Given the description of an element on the screen output the (x, y) to click on. 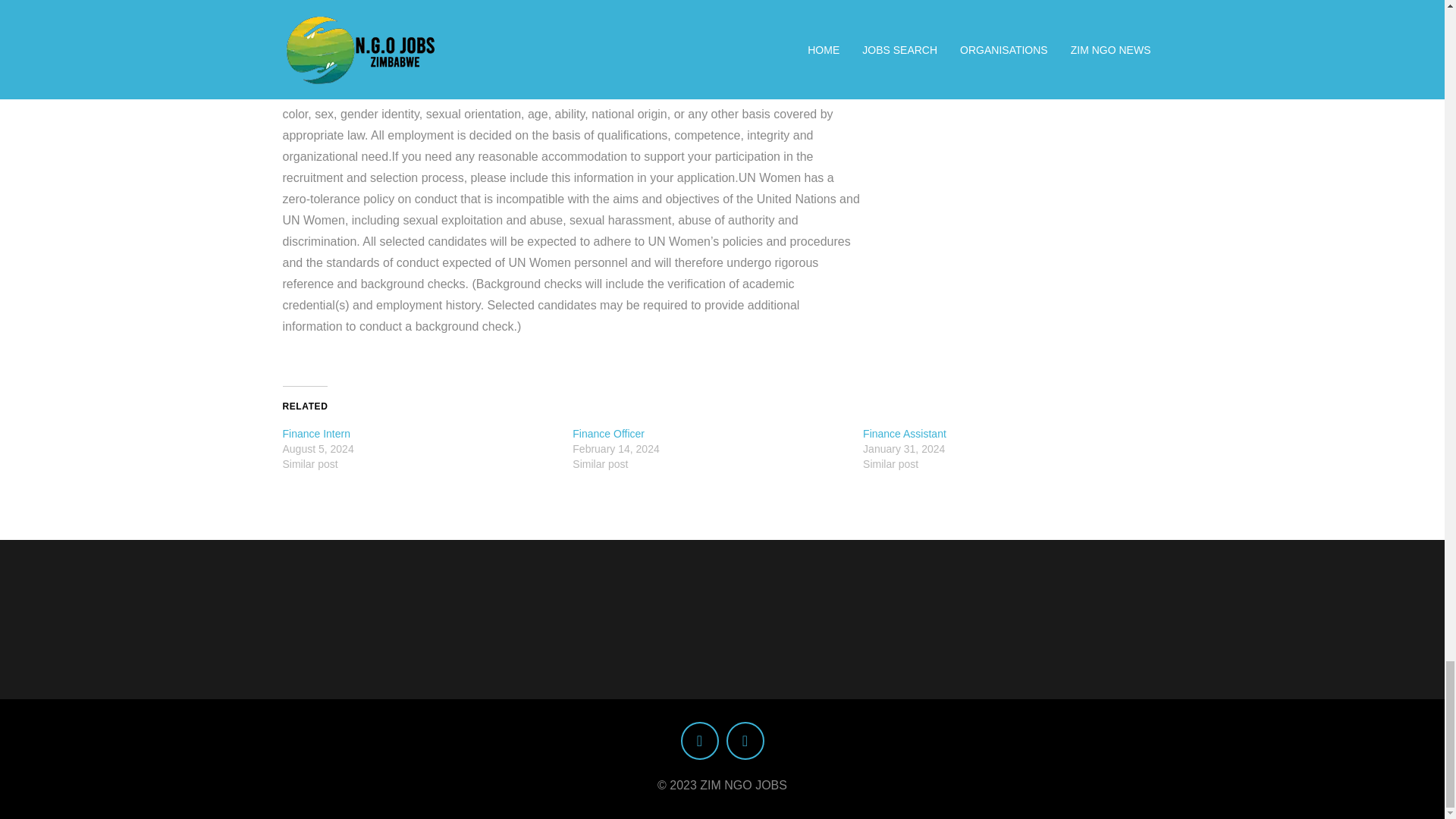
Finance Officer (608, 433)
Finance Officer (608, 433)
Finance Assistant (904, 433)
Finance Intern (316, 433)
Finance Intern (316, 433)
Finance Assistant (904, 433)
